Given the description of an element on the screen output the (x, y) to click on. 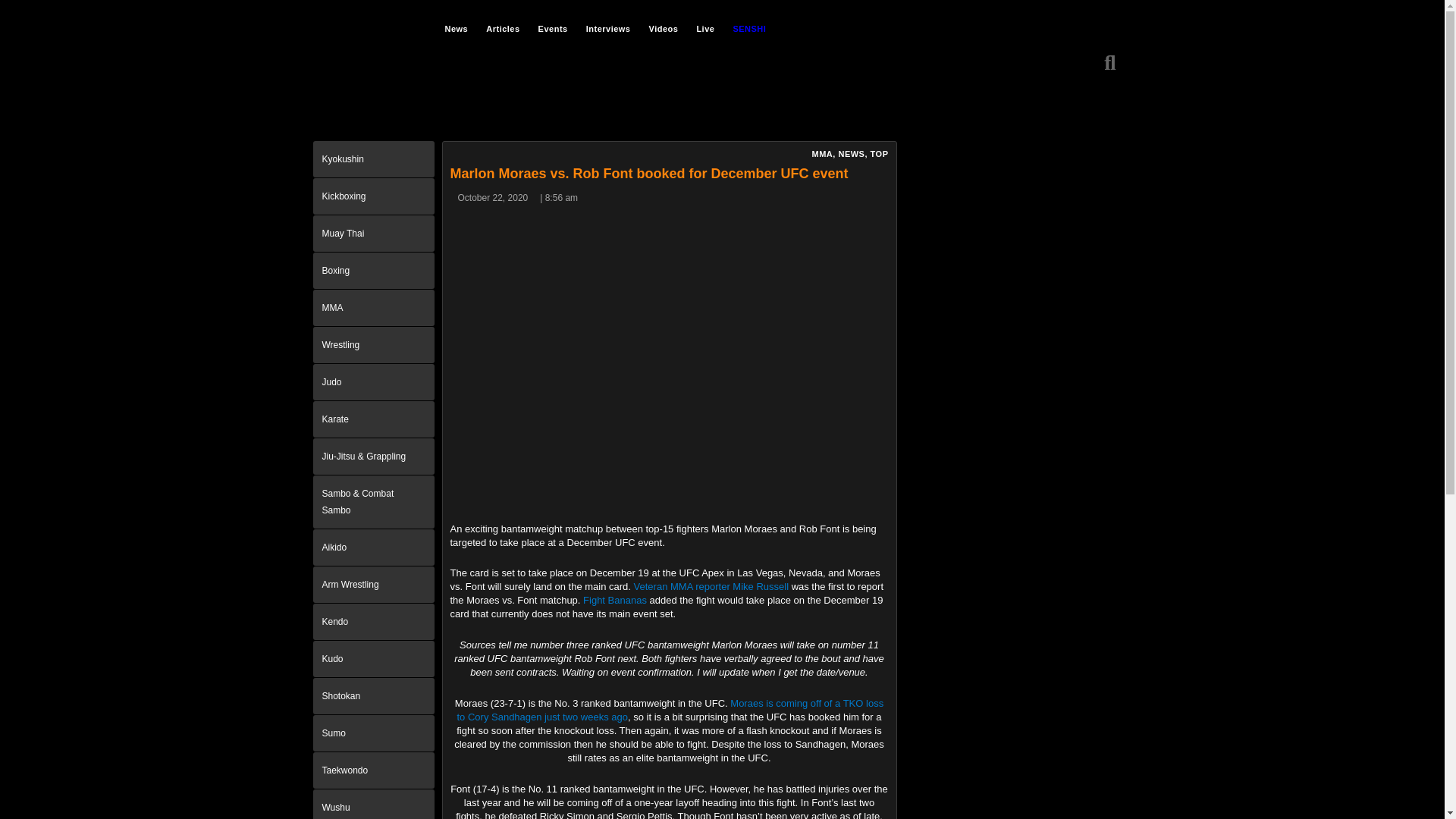
SENSHI (748, 28)
Events (552, 28)
Articles (502, 28)
News (456, 28)
Videos (663, 28)
Interviews (608, 28)
